Given the description of an element on the screen output the (x, y) to click on. 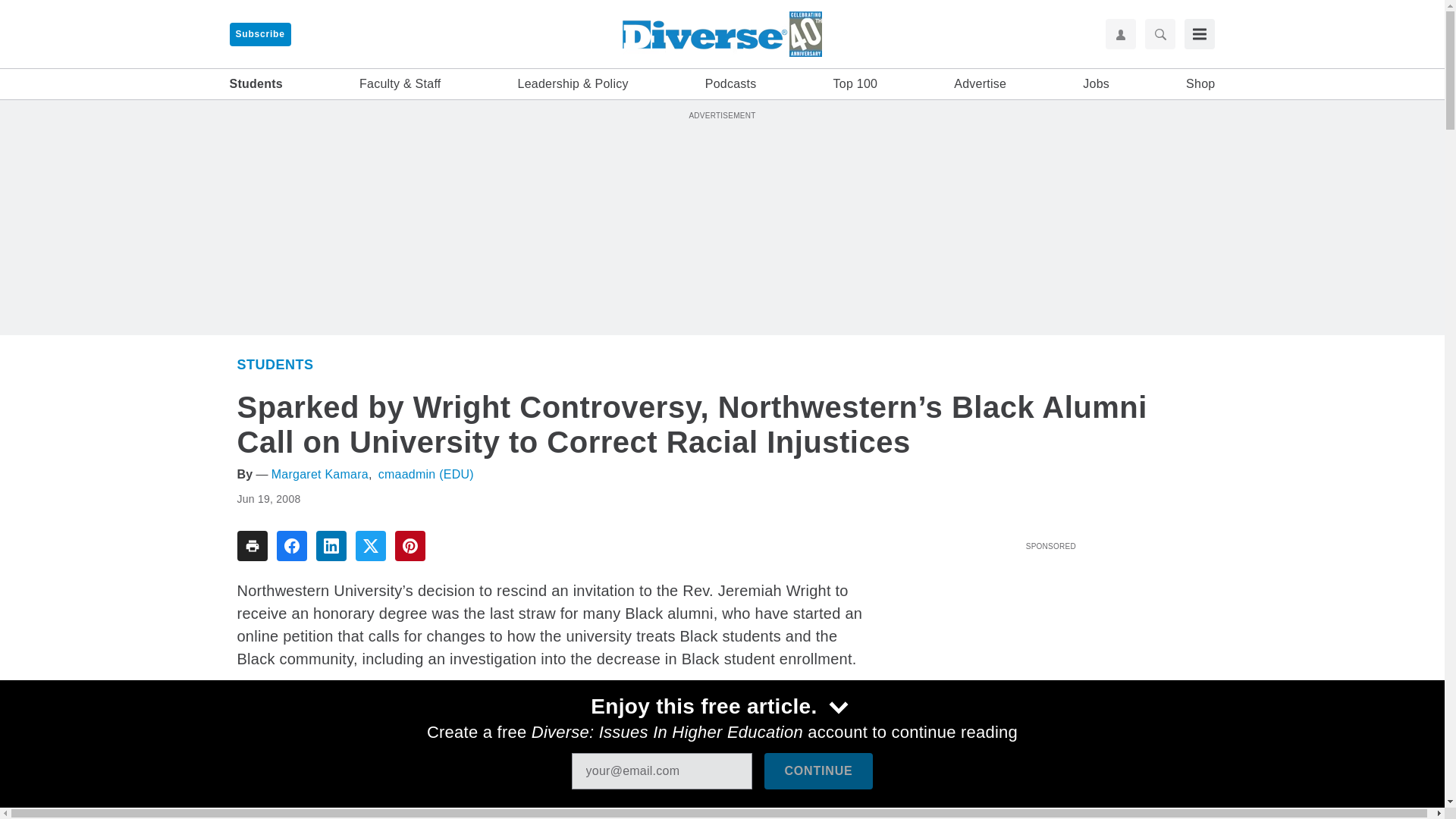
Top 100 (854, 84)
Share To pinterest (409, 545)
Share To print (250, 545)
Jobs (1096, 84)
Shop (1200, 84)
Students (274, 364)
Subscribe (258, 33)
Students (255, 84)
Share To twitter (370, 545)
Advertise (979, 84)
